Given the description of an element on the screen output the (x, y) to click on. 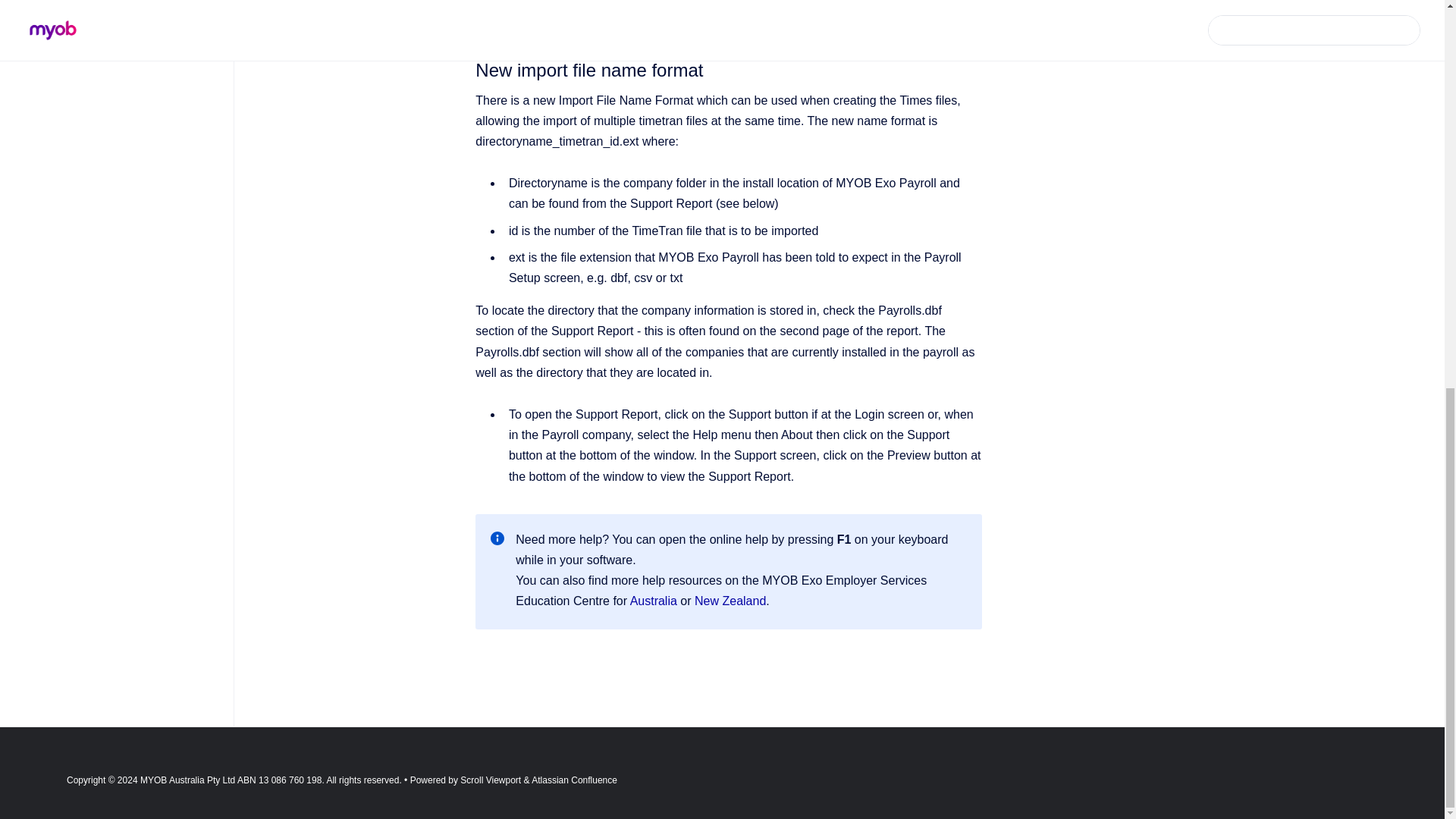
Atlassian Confluence (574, 779)
New Zealand (729, 600)
Australia (655, 600)
Scroll Viewport (491, 779)
